Given the description of an element on the screen output the (x, y) to click on. 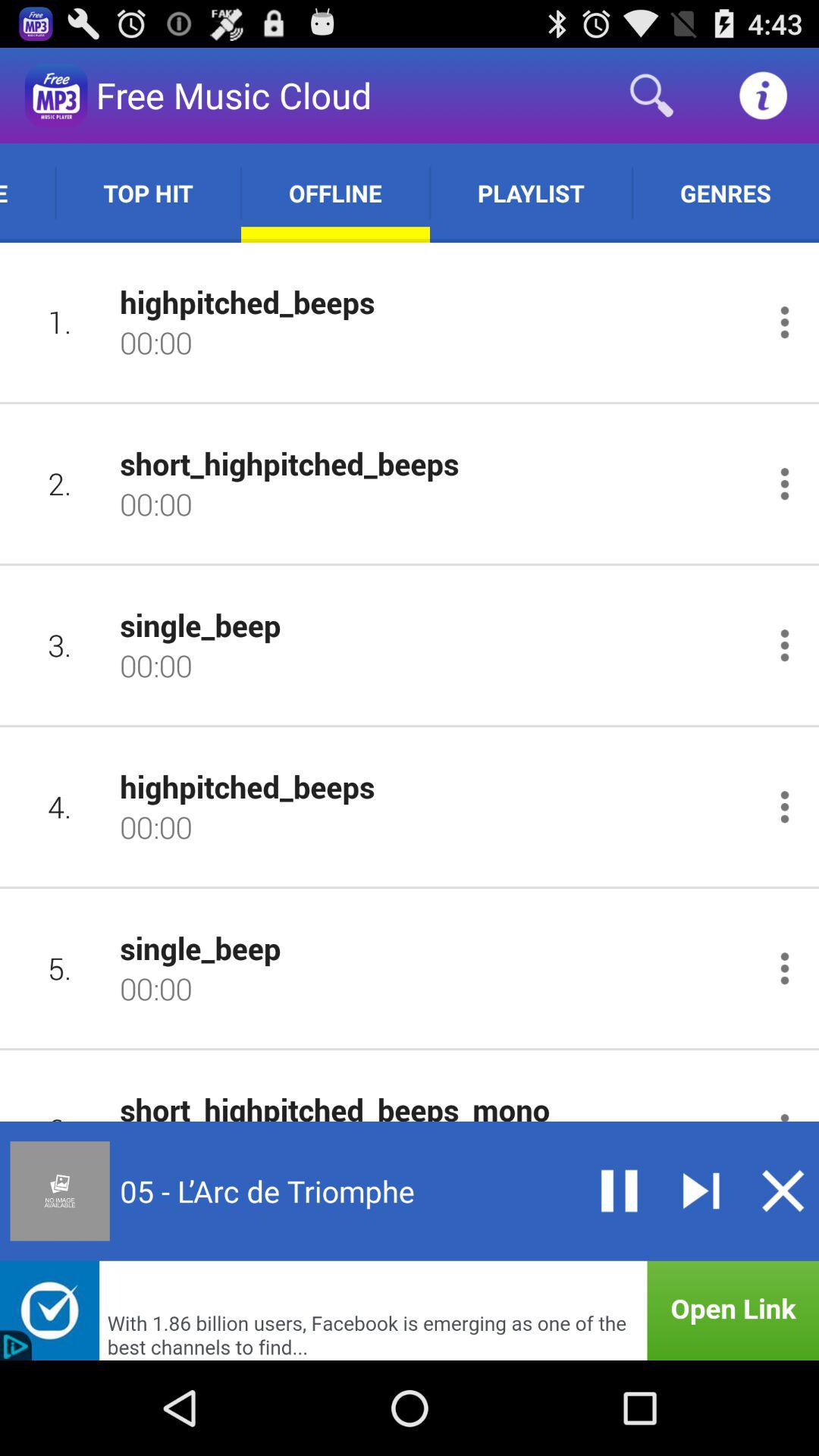
press the icon next to highpitched_beeps (59, 806)
